Given the description of an element on the screen output the (x, y) to click on. 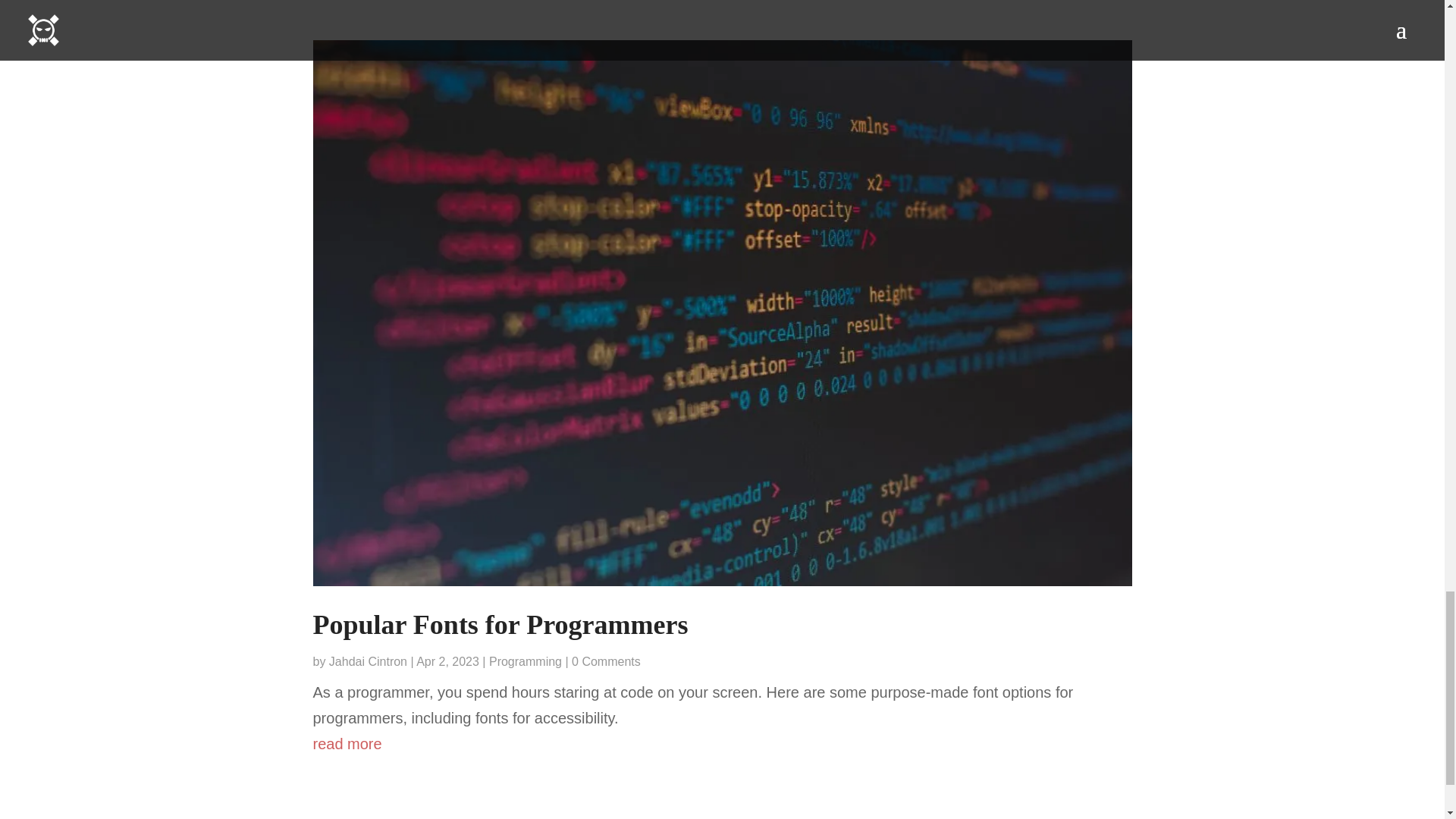
Posts by Jahdai Cintron (368, 661)
Jahdai Cintron (368, 661)
Popular Fonts for Programmers (500, 624)
Programming (525, 661)
read more (722, 743)
